Given the description of an element on the screen output the (x, y) to click on. 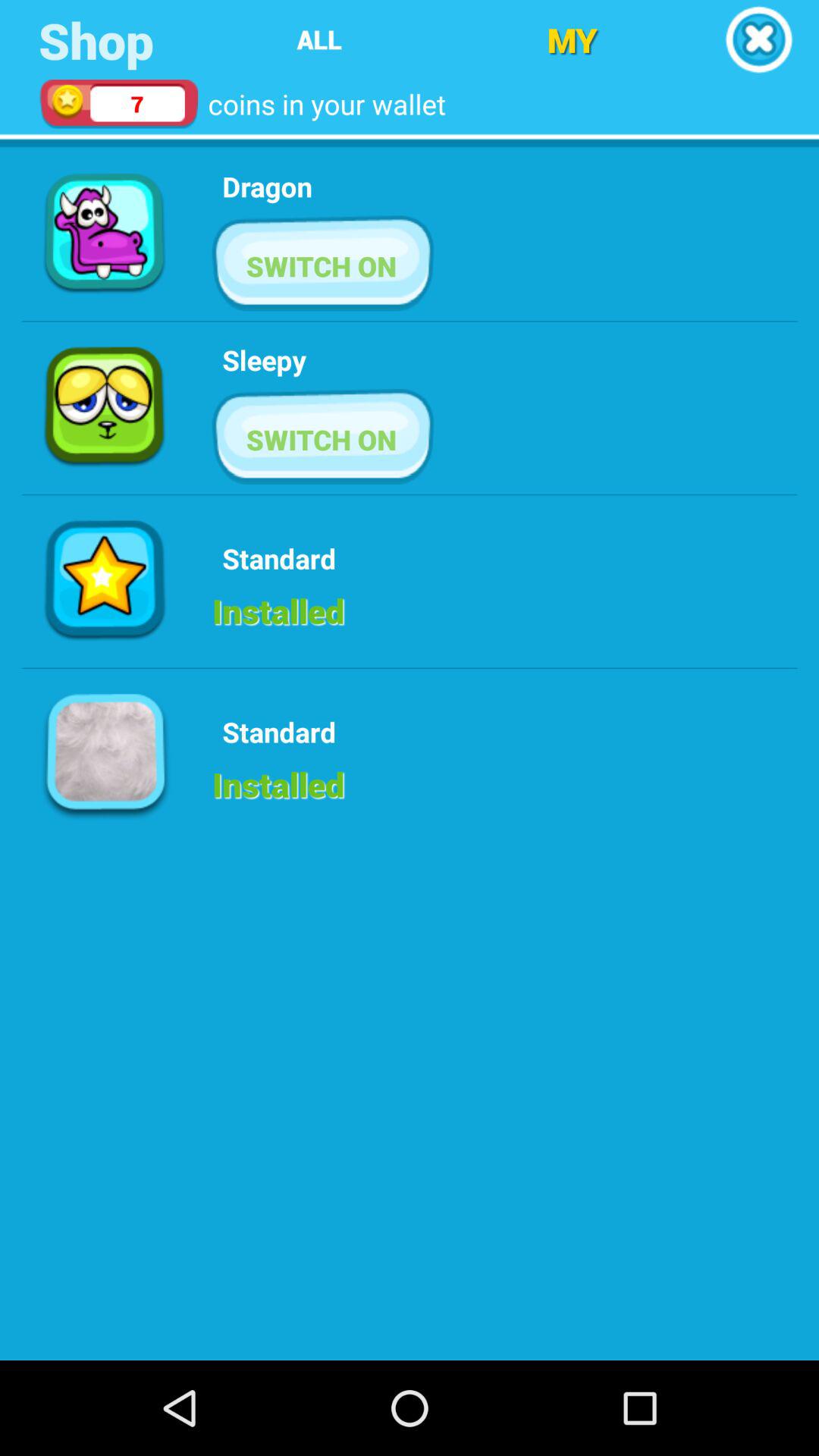
swipe until sleepy app (264, 360)
